Given the description of an element on the screen output the (x, y) to click on. 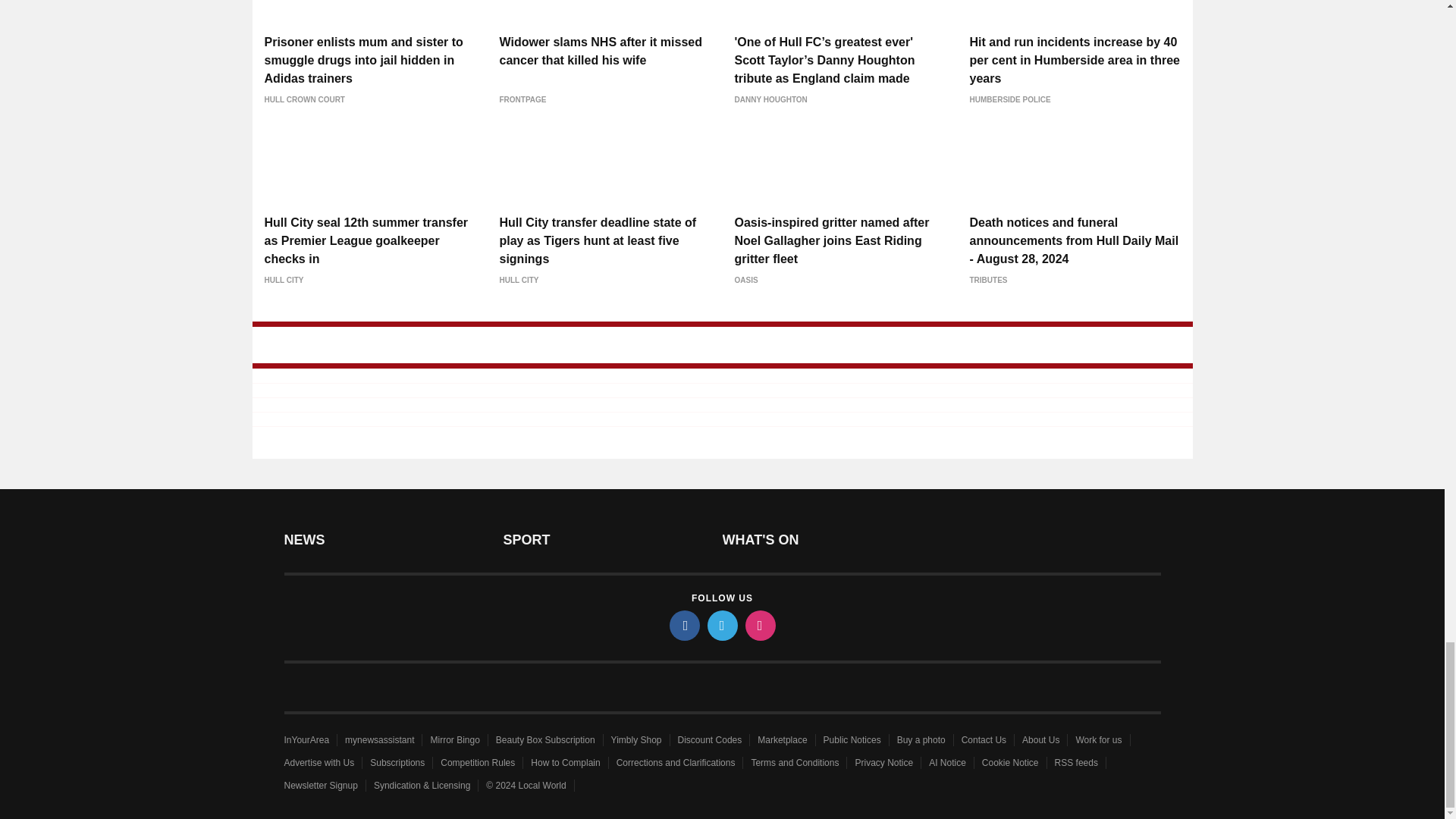
instagram (759, 625)
facebook (683, 625)
twitter (721, 625)
